Given the description of an element on the screen output the (x, y) to click on. 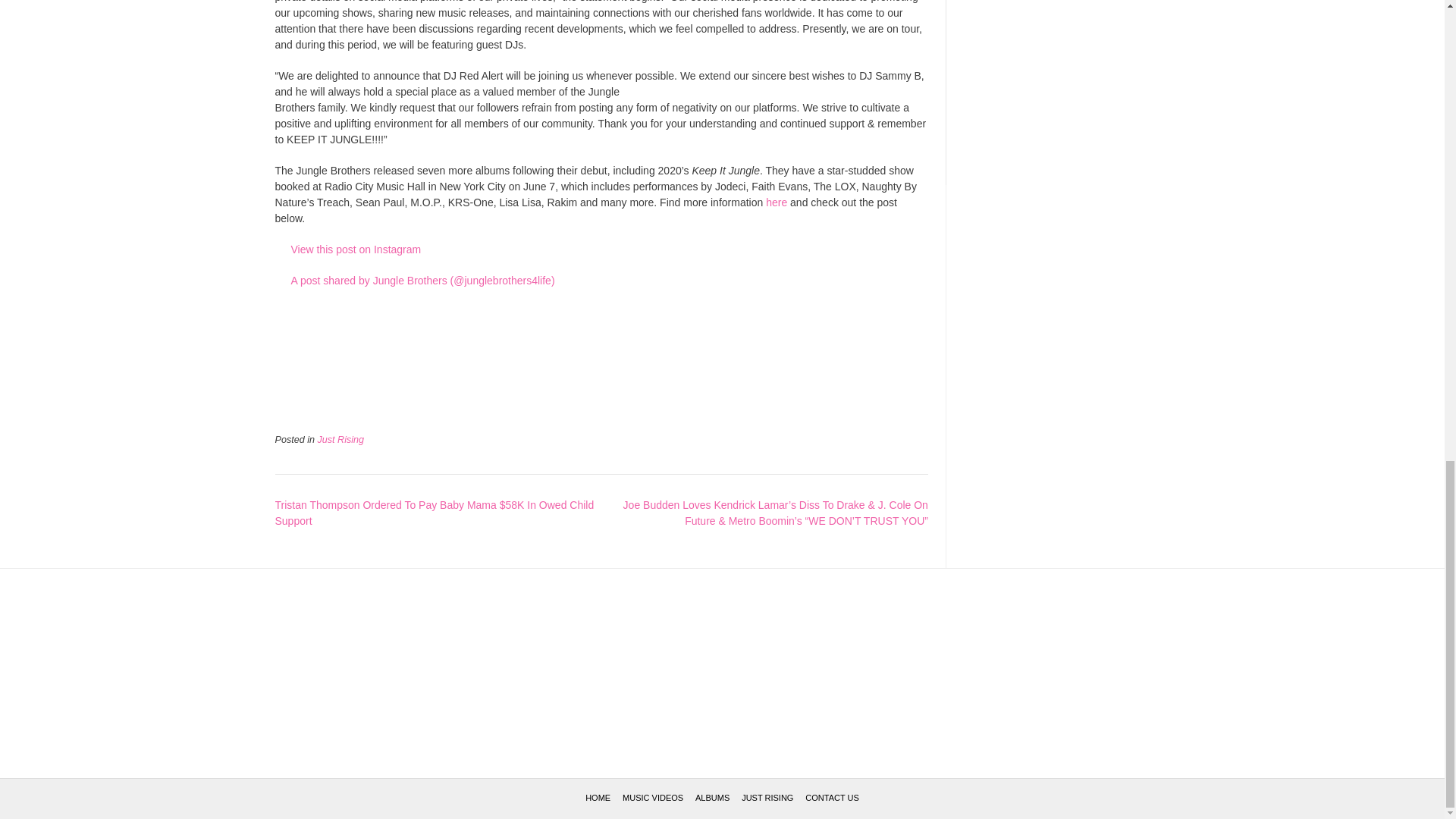
JUST RISING (767, 797)
here (776, 202)
Just Rising (341, 439)
CONTACT US (831, 797)
View this post on Instagram (601, 249)
MUSIC VIDEOS (652, 797)
ALBUMS (712, 797)
HOME (597, 797)
